Given the description of an element on the screen output the (x, y) to click on. 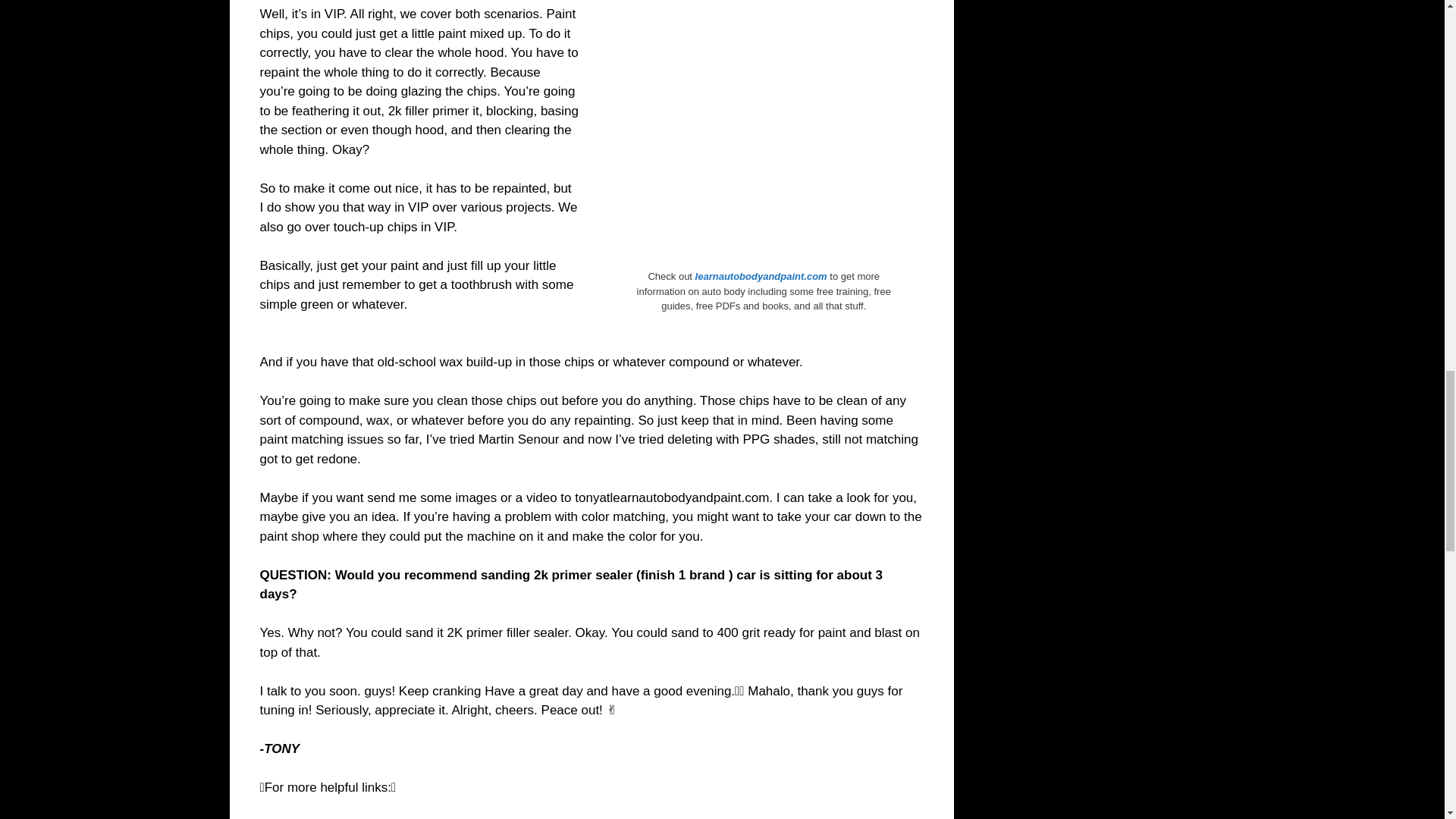
learnautobodyandpaint.com (760, 276)
